Given the description of an element on the screen output the (x, y) to click on. 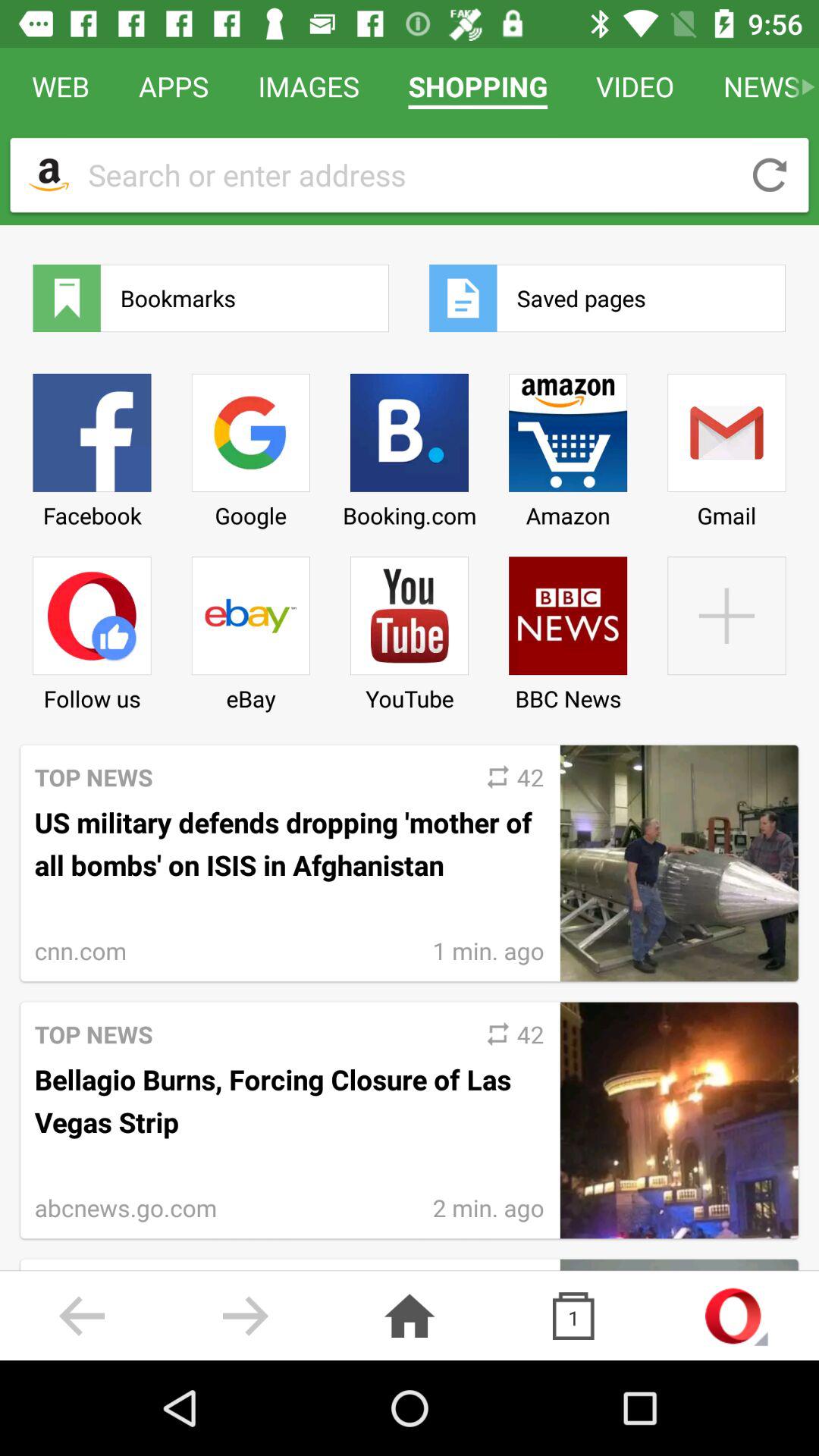
turn off icon to the left of the shopping icon (308, 86)
